Given the description of an element on the screen output the (x, y) to click on. 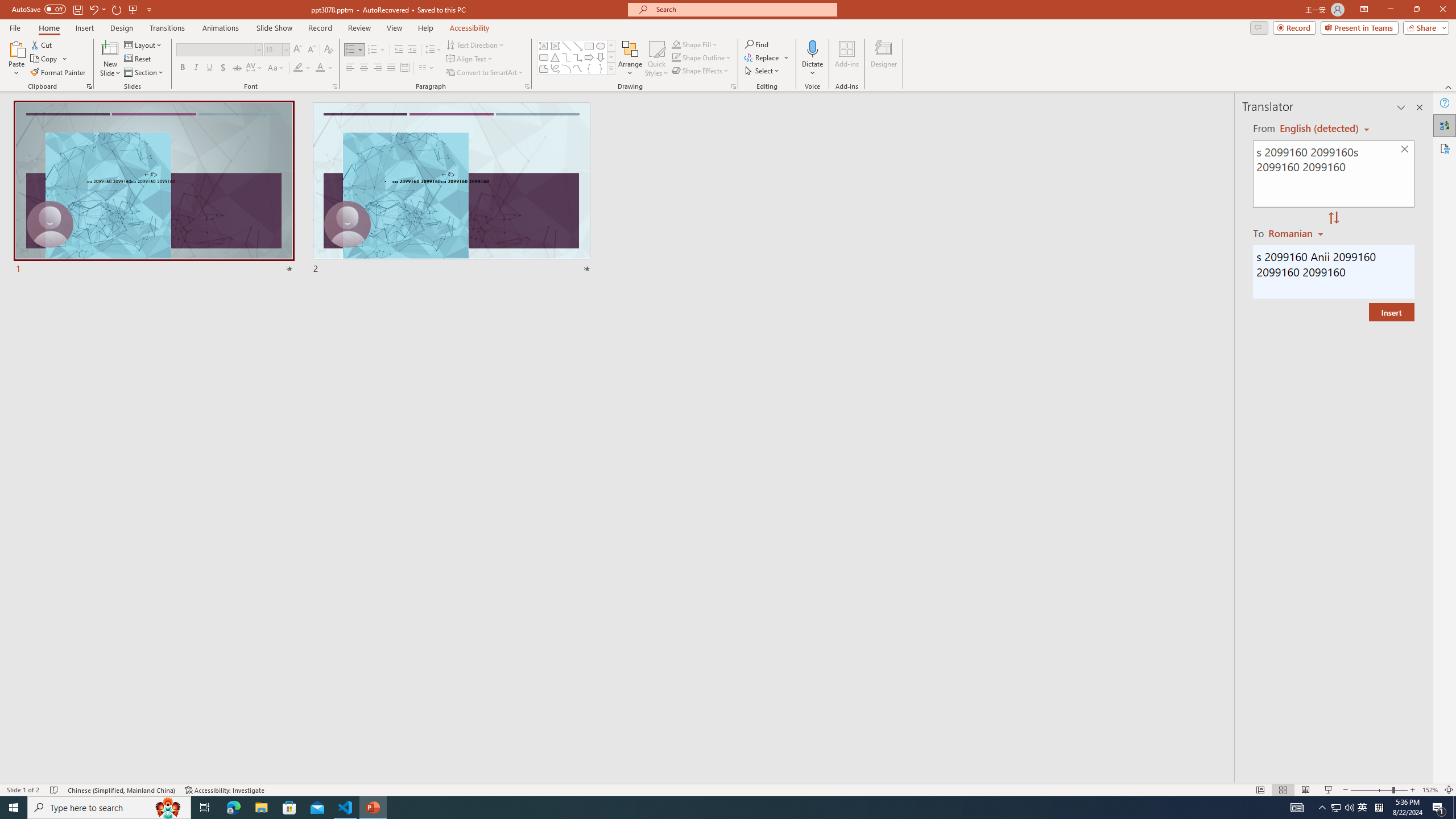
Swap "from" and "to" languages. (1333, 218)
